Given the description of an element on the screen output the (x, y) to click on. 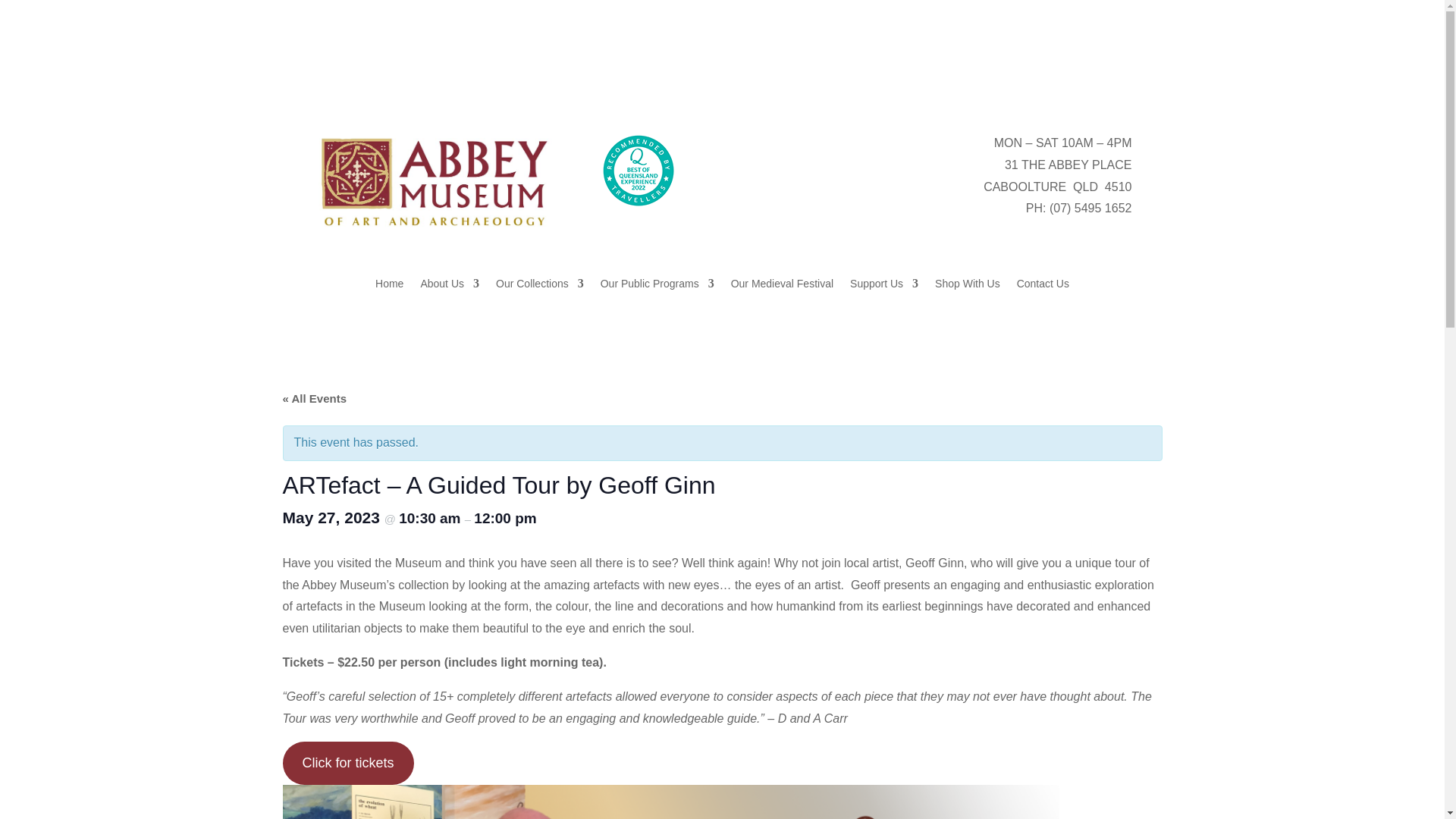
Our Medieval Festival (781, 286)
Follow on Facebook (1028, 73)
About Us (449, 286)
Our Public Programs (656, 286)
Home (389, 286)
Our Collections (539, 286)
Contact Us (1042, 286)
Follow on TikTok (1118, 73)
Shop With Us (967, 286)
Follow on Instagram (1088, 73)
